Given the description of an element on the screen output the (x, y) to click on. 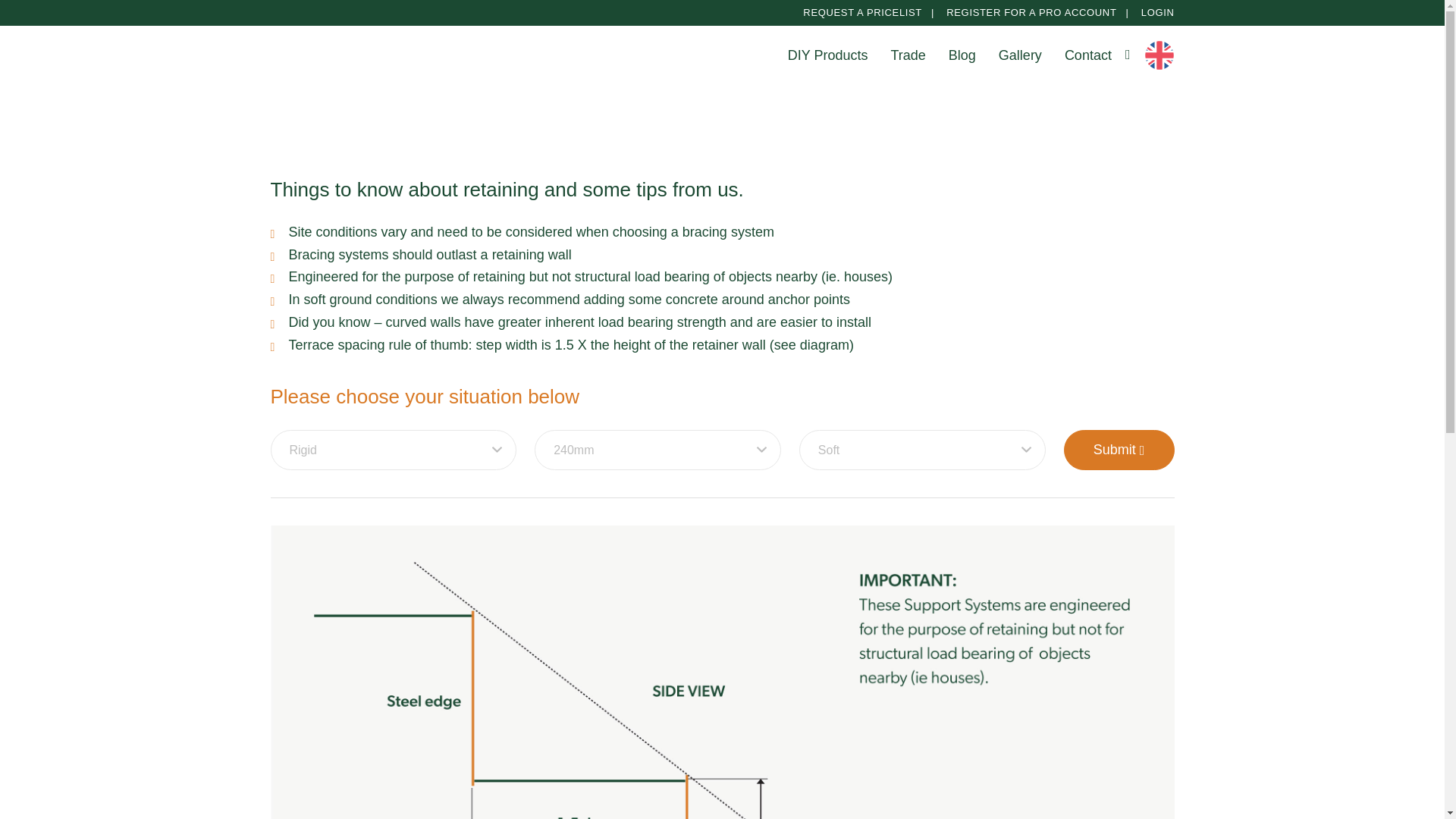
Submit (1119, 449)
LOGIN (1157, 12)
Blog (962, 55)
Contact (1088, 55)
REQUEST A PRICELIST (862, 12)
REGISTER FOR A PRO ACCOUNT (1031, 12)
DIY Products (827, 55)
